Given the description of an element on the screen output the (x, y) to click on. 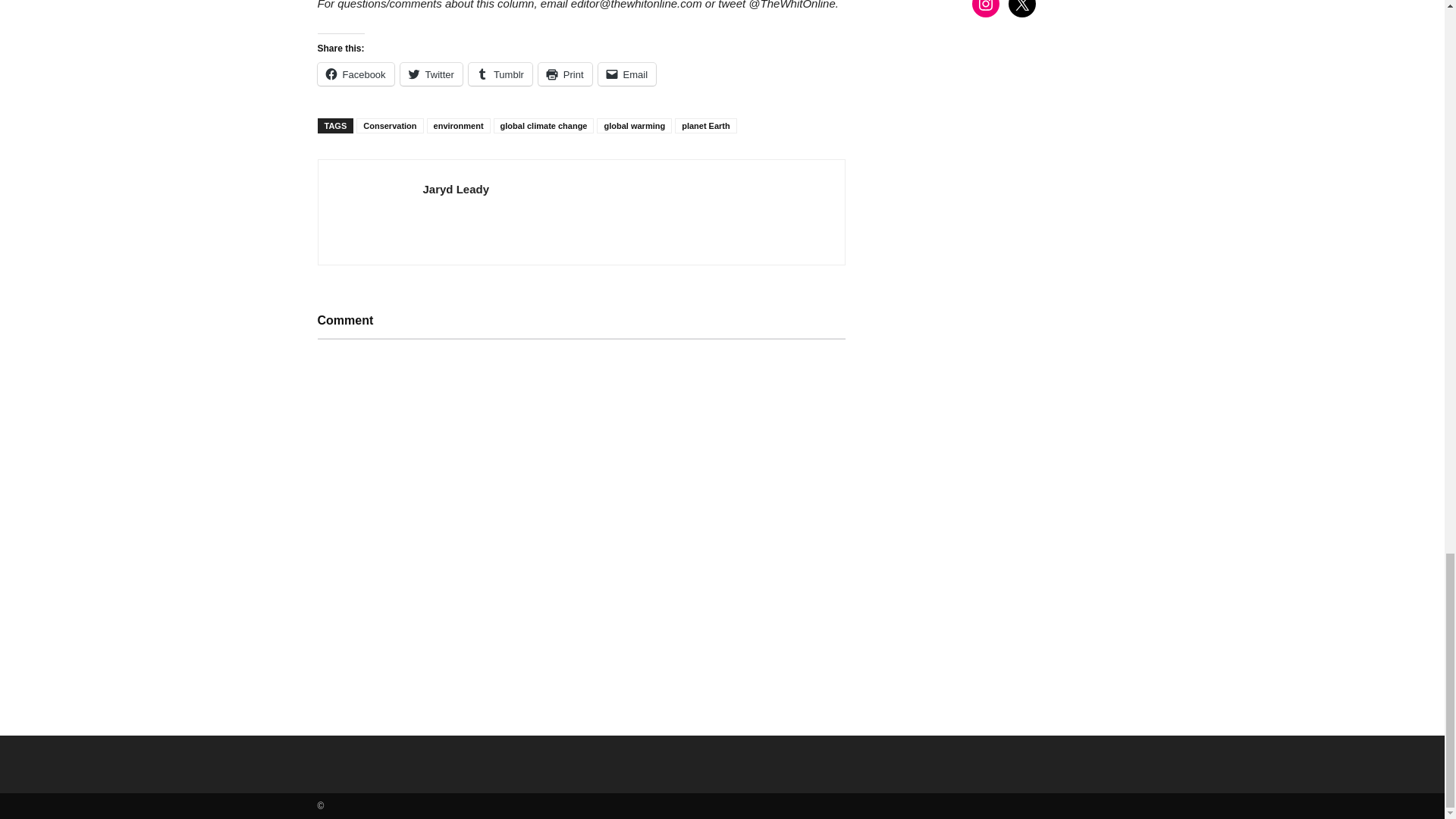
Click to share on Facebook (355, 74)
Click to share on Tumblr (500, 74)
Click to share on Twitter (431, 74)
